Given the description of an element on the screen output the (x, y) to click on. 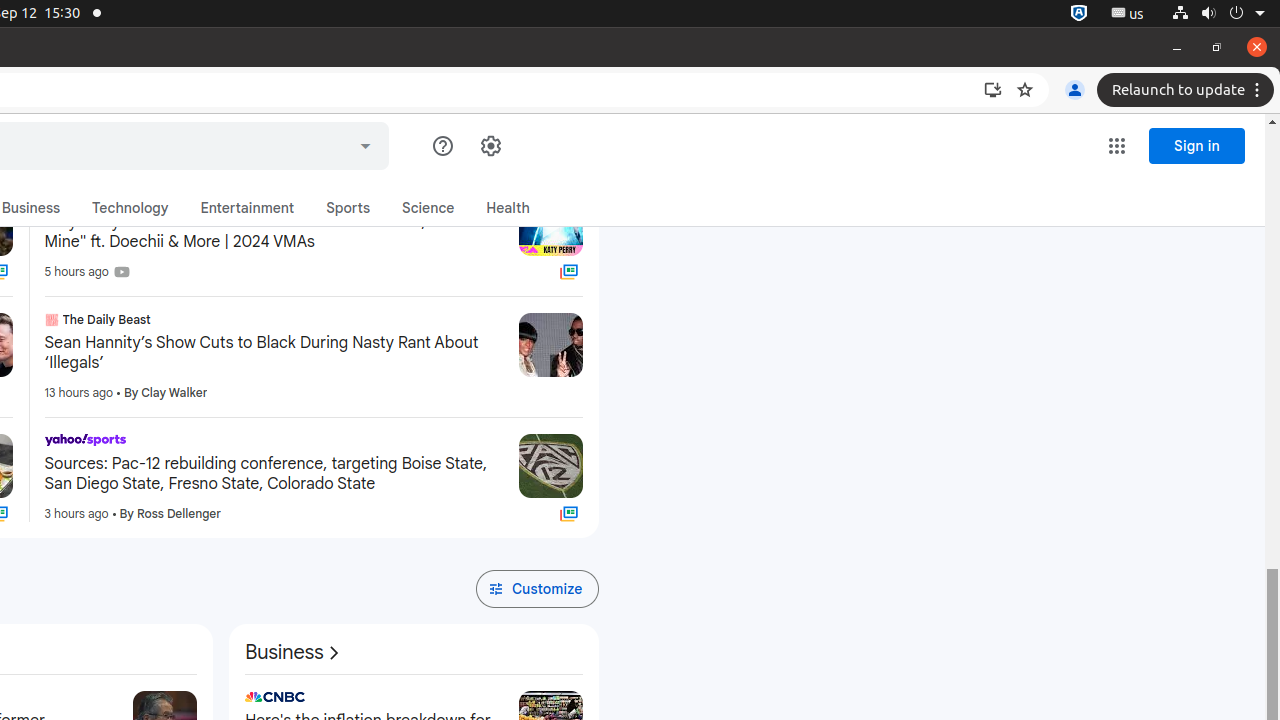
:1.21/StatusNotifierItem Element type: menu (1127, 13)
Relaunch to update Element type: push-button (1188, 90)
Sign in Element type: link (552, 130)
More - Alberto Fujimori, a former president of Peru who was convicted for human rights abuses, dies at 86 Element type: push-button (111, 700)
:1.72/StatusNotifierItem Element type: menu (1079, 13)
